Given the description of an element on the screen output the (x, y) to click on. 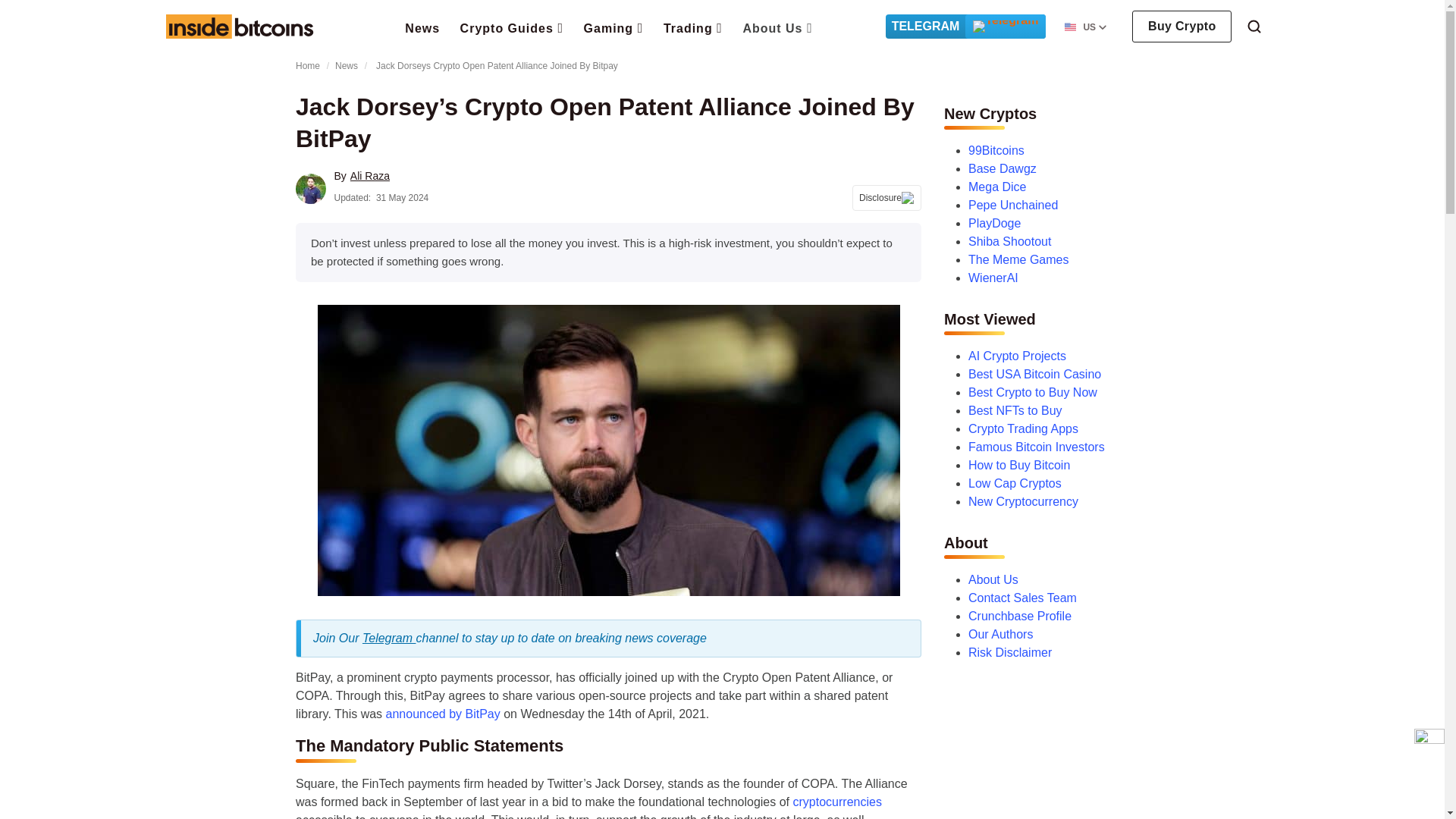
Home (239, 26)
News (421, 26)
Crypto Guides (512, 26)
